Given the description of an element on the screen output the (x, y) to click on. 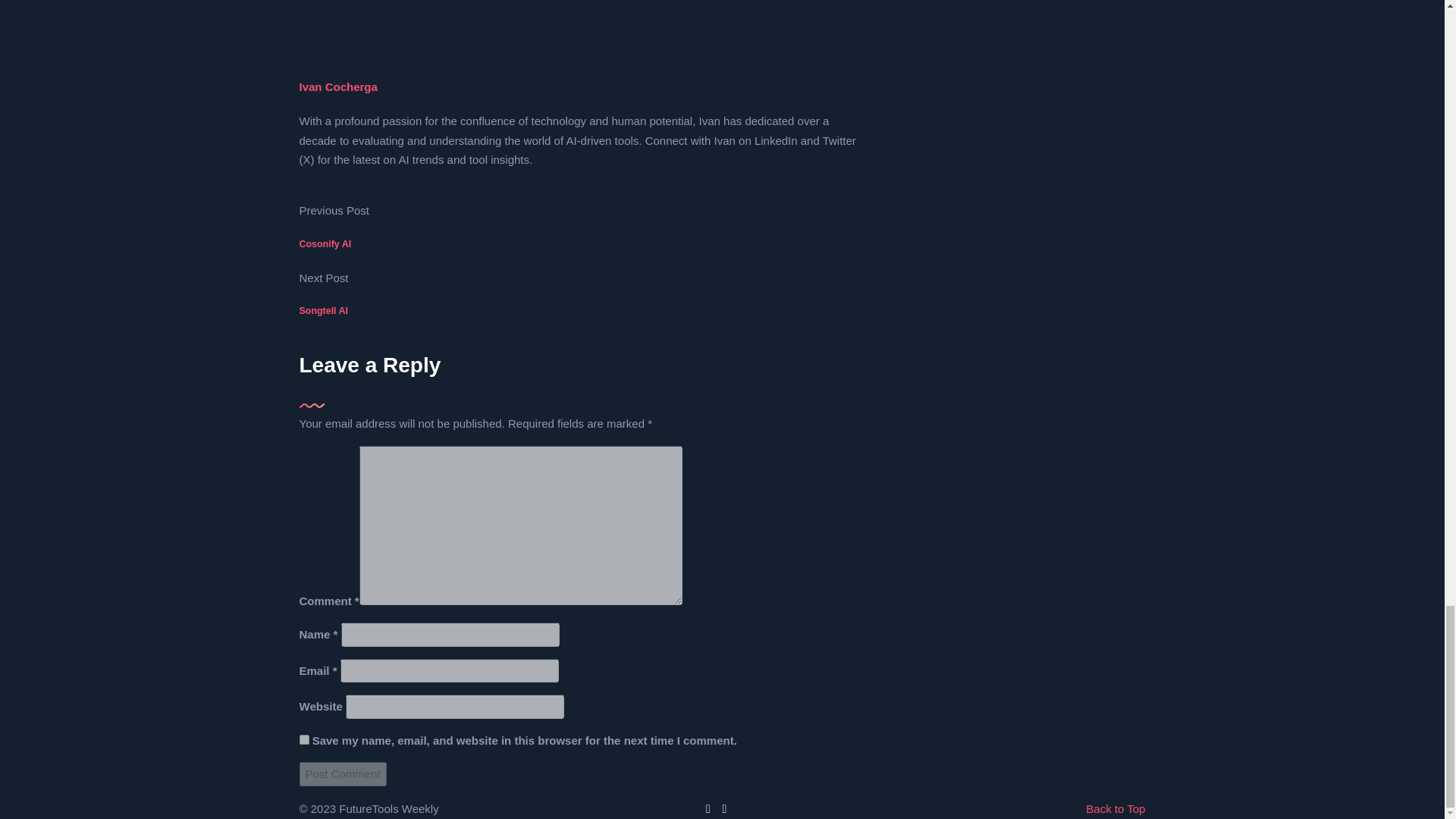
Ivan Cocherga (337, 86)
yes (303, 739)
Post Comment (341, 774)
